Given the description of an element on the screen output the (x, y) to click on. 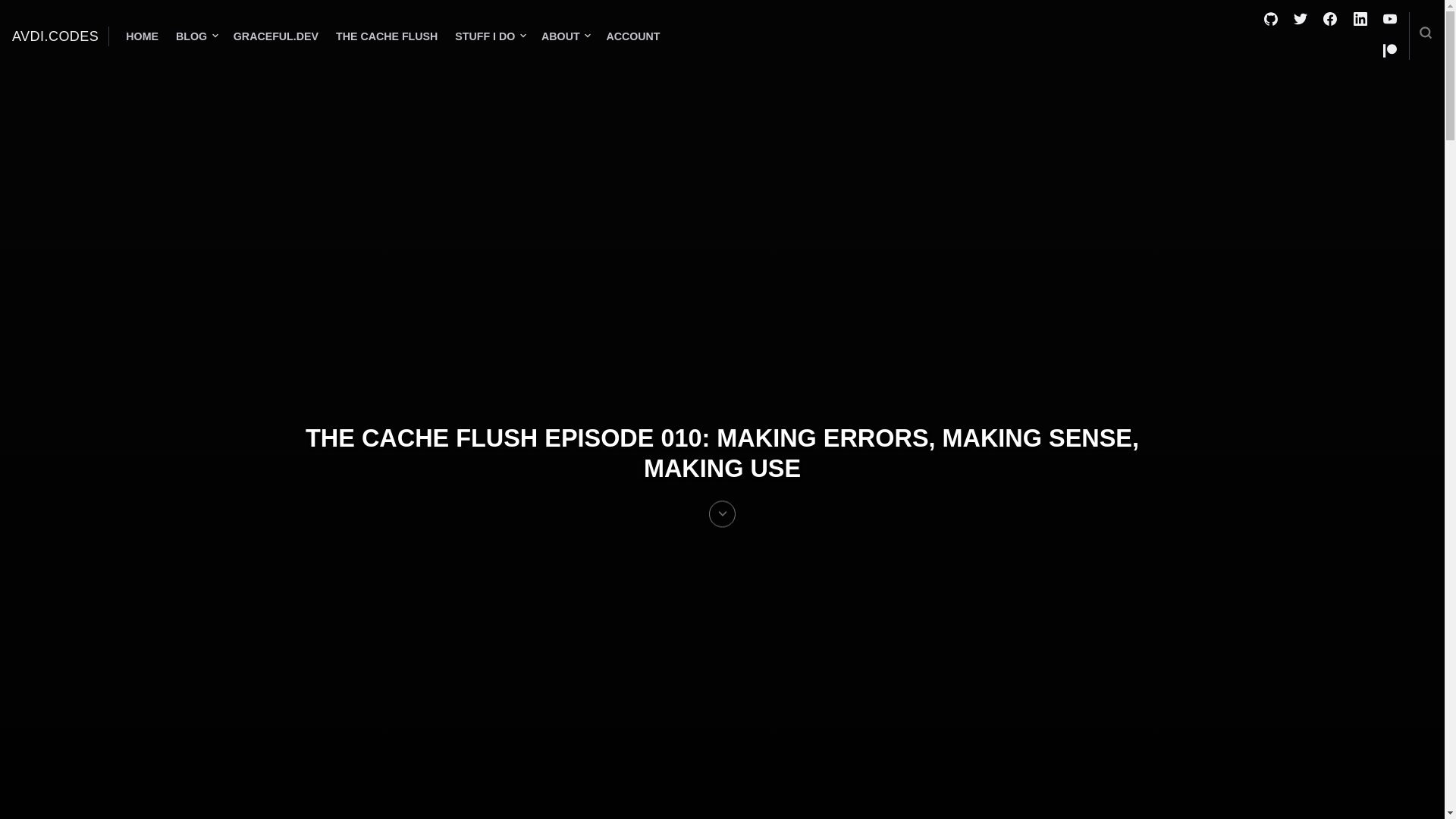
STUFF I DO (486, 36)
YouTube (1389, 21)
AVDI.CODES (55, 36)
Patreon (1389, 52)
SKIP TO ENTRY CONTENT (722, 521)
Facebook (1329, 21)
Twitter (1300, 21)
Courses and more (275, 36)
ABOUT (562, 36)
GRACEFUL.DEV (275, 36)
